Given the description of an element on the screen output the (x, y) to click on. 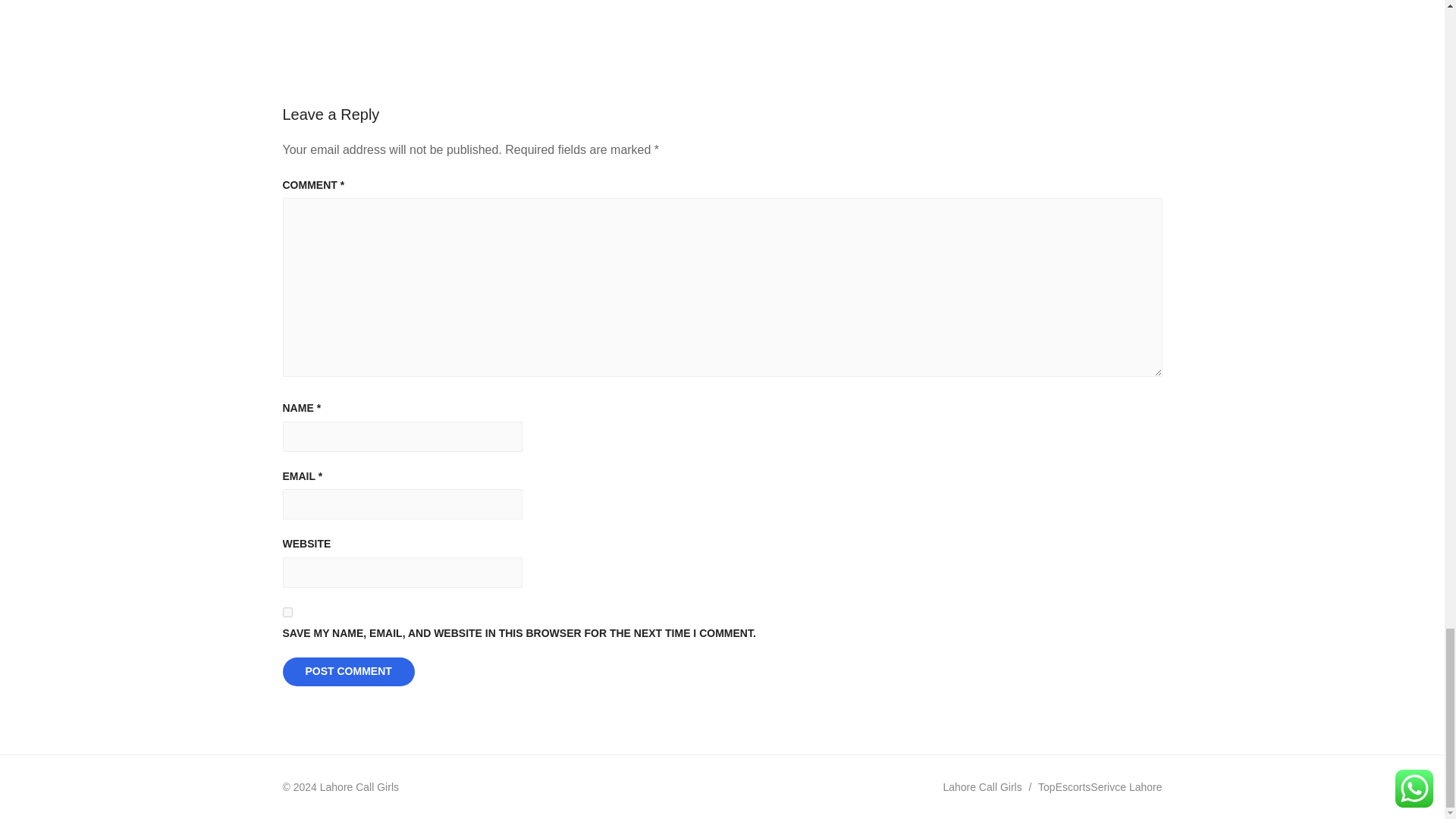
Post Comment (347, 671)
TopEscortsSerivce Lahore (1099, 787)
Post Comment (347, 671)
Lahore Call Girls (982, 787)
yes (287, 612)
